Given the description of an element on the screen output the (x, y) to click on. 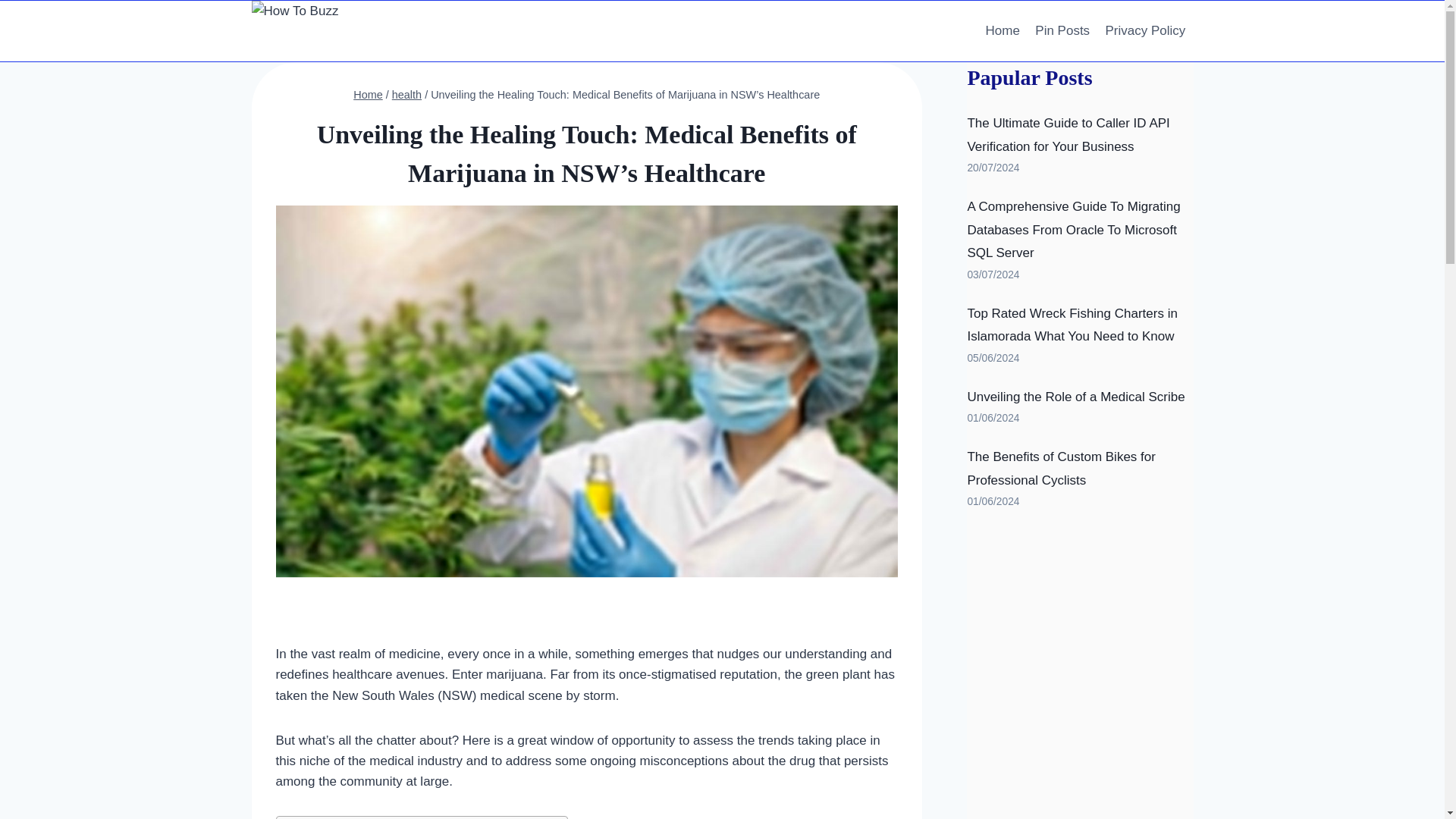
Home (1001, 31)
Privacy Policy (1144, 31)
The Benefits of Custom Bikes for Professional Cyclists (1061, 468)
health (406, 94)
Pin Posts (1062, 31)
Home (367, 94)
Unveiling the Role of a Medical Scribe (1075, 396)
